Given the description of an element on the screen output the (x, y) to click on. 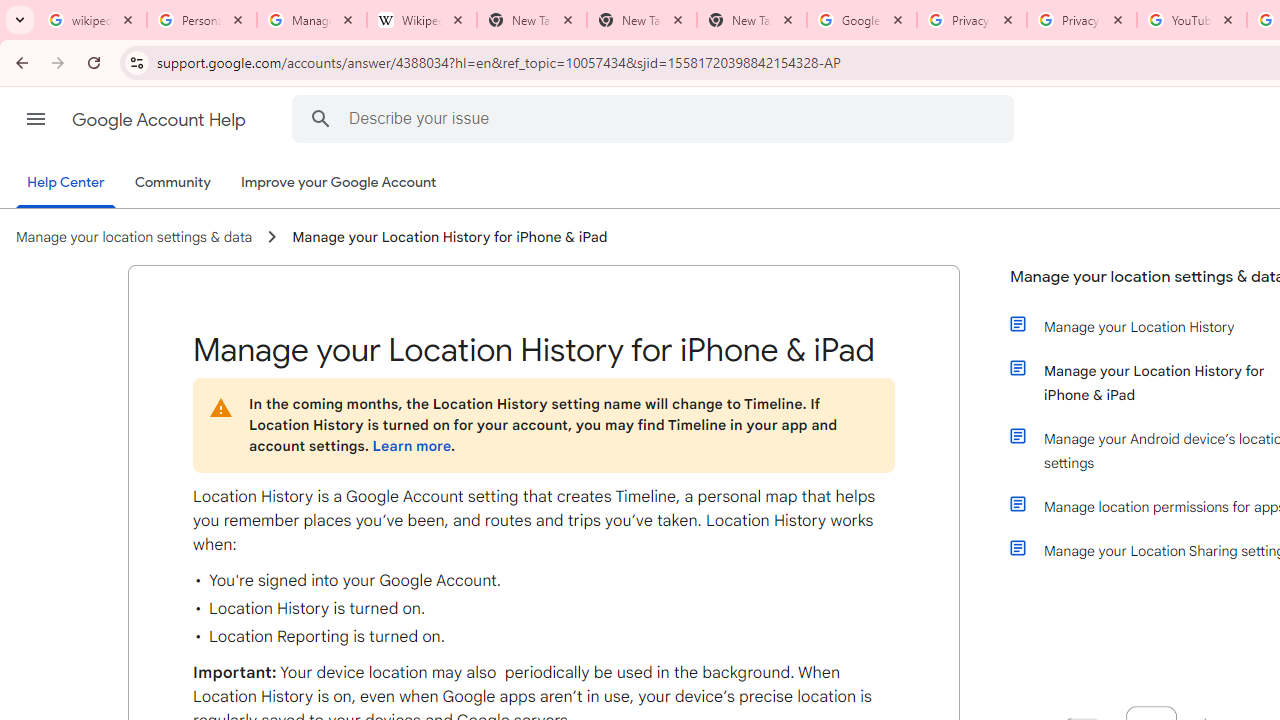
Manage your Location History - Google Search Help (312, 20)
Wikipedia:Edit requests - Wikipedia (422, 20)
Describe your issue (655, 118)
Help Center (65, 183)
New Tab (642, 20)
Personalization & Google Search results - Google Search Help (202, 20)
Learn more (411, 446)
